Given the description of an element on the screen output the (x, y) to click on. 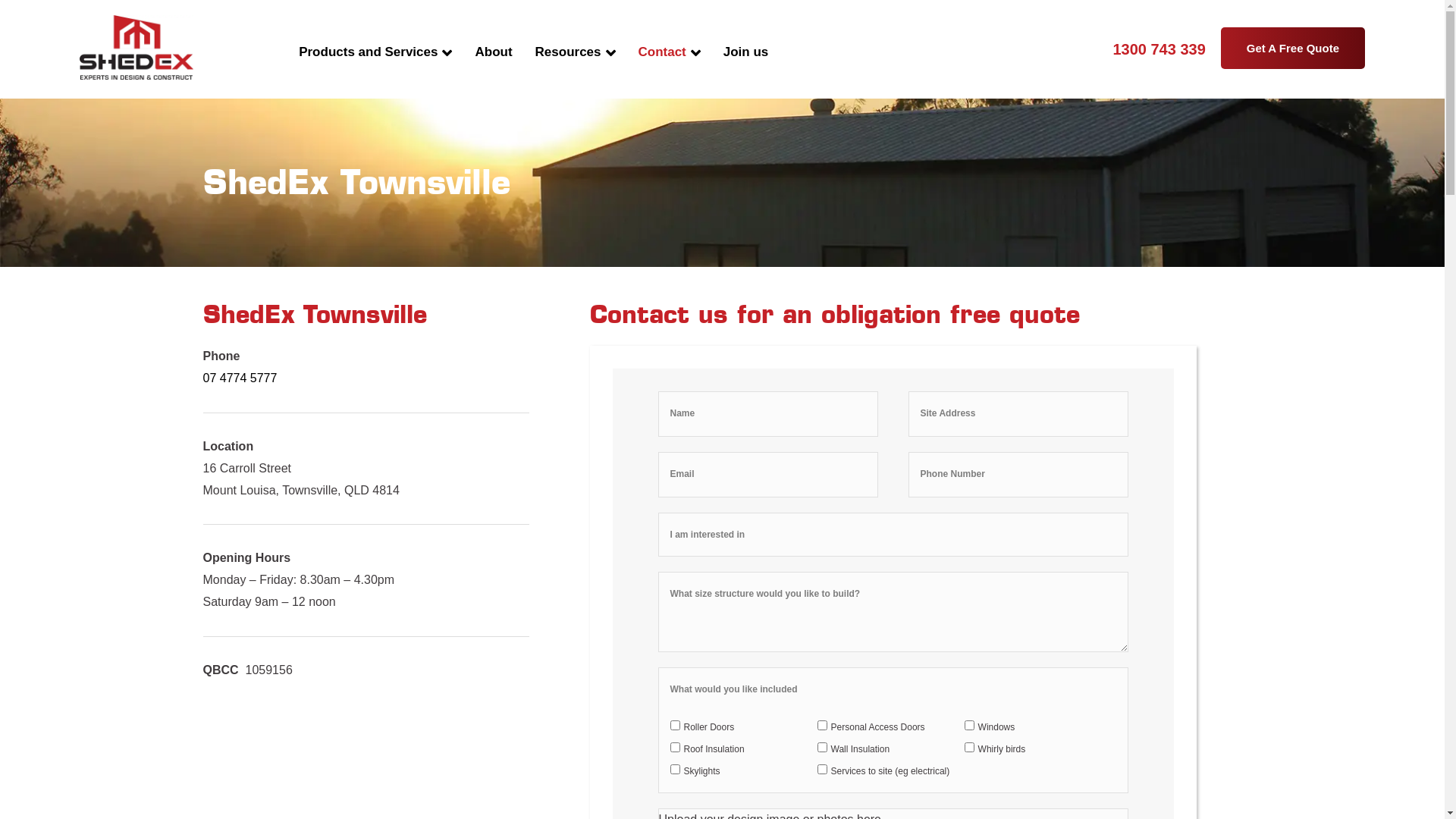
1300 743 339 Element type: text (1158, 49)
Get A Free Quote Element type: text (1292, 48)
About Element type: text (493, 63)
Resources Element type: text (575, 63)
Join us Element type: text (740, 63)
07 4774 5777 Element type: text (240, 377)
Contact Element type: text (668, 63)
Products and Services Element type: text (380, 63)
